Given the description of an element on the screen output the (x, y) to click on. 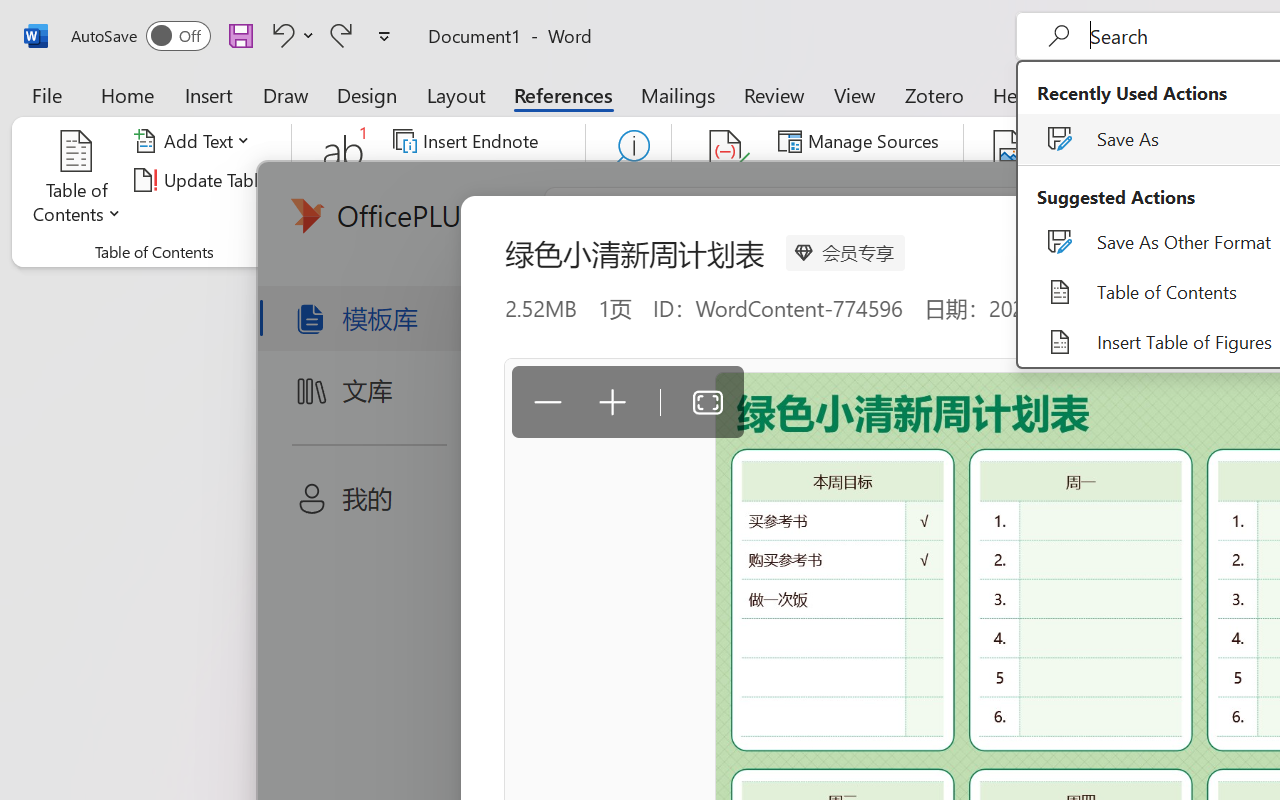
Table of Contents (77, 179)
Update Table (1124, 179)
Next Footnote (468, 179)
Next Footnote (479, 179)
Update Table... (204, 179)
Bibliography (854, 218)
